Given the description of an element on the screen output the (x, y) to click on. 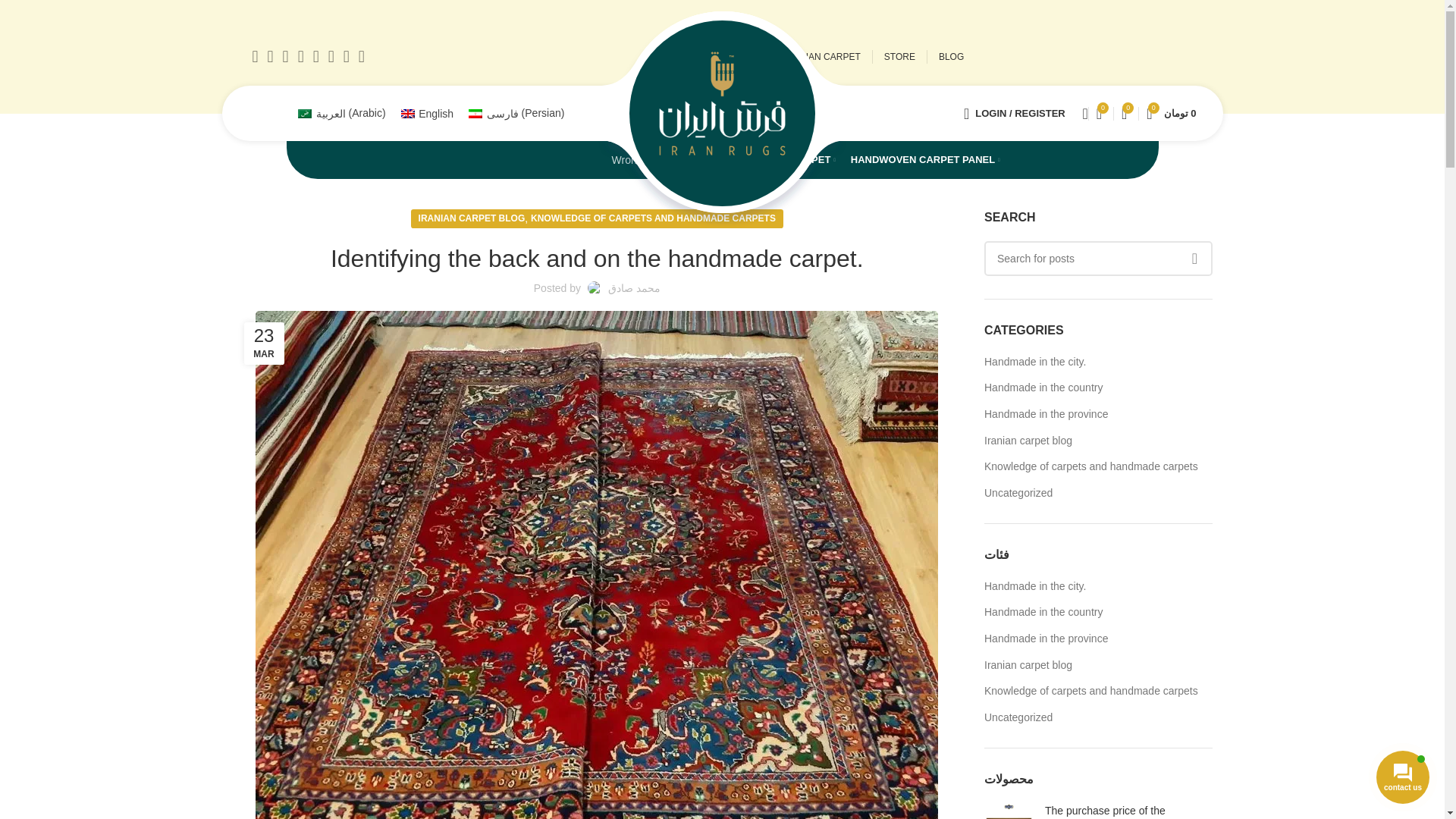
English (427, 112)
My account (1014, 113)
HANDWOVEN CARPET PANEL (925, 159)
BLOG (951, 56)
My Wishlist (1099, 113)
HANDMADE CARPET (781, 159)
Compare products (1123, 113)
Search for posts (1098, 258)
0 (1099, 113)
ABOUT THE IRANIAN CARPET (794, 56)
Shopping cart (1171, 113)
STORE (899, 56)
0 (1123, 113)
